Given the description of an element on the screen output the (x, y) to click on. 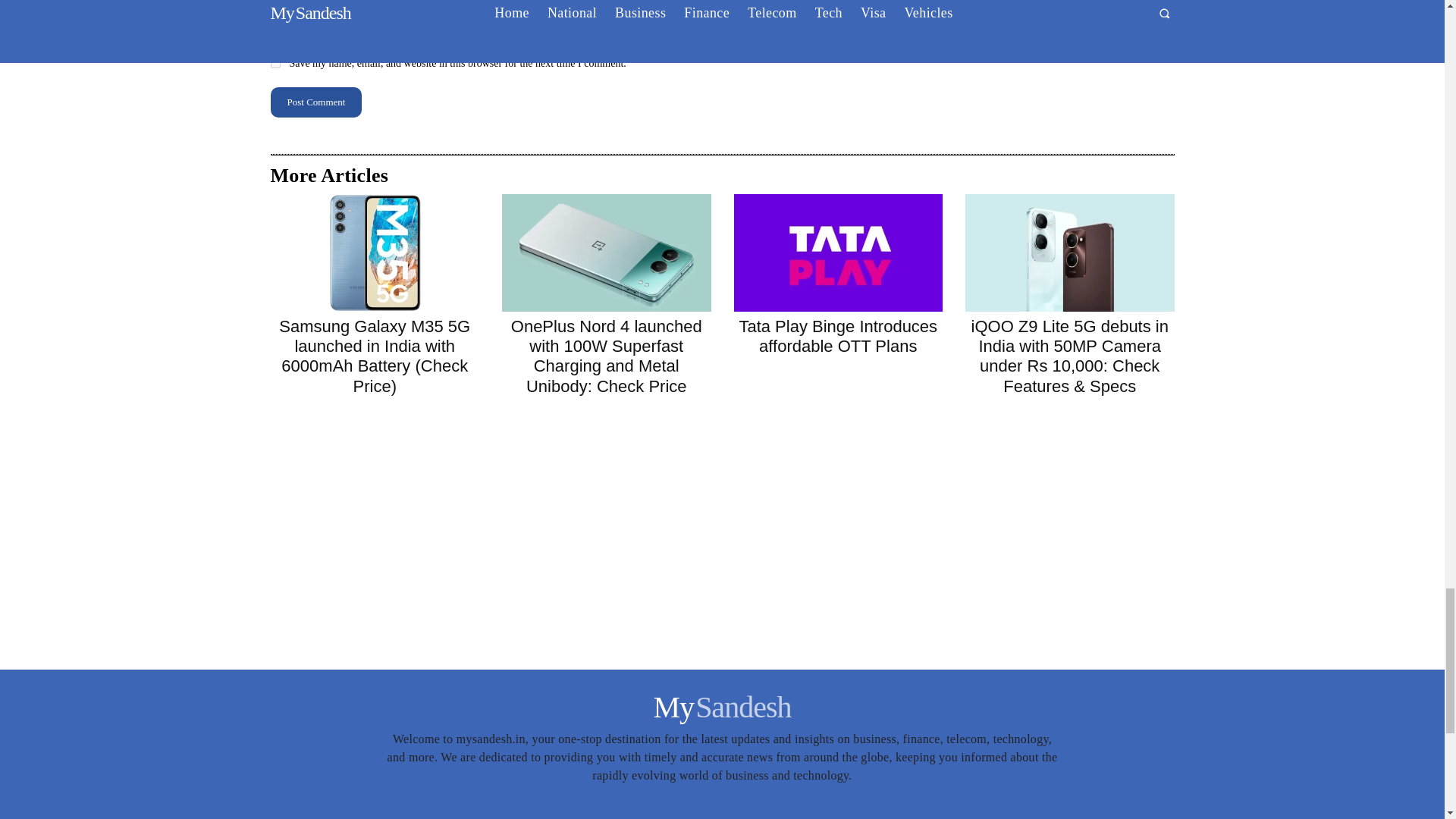
Post Comment (315, 101)
yes (274, 62)
